Given the description of an element on the screen output the (x, y) to click on. 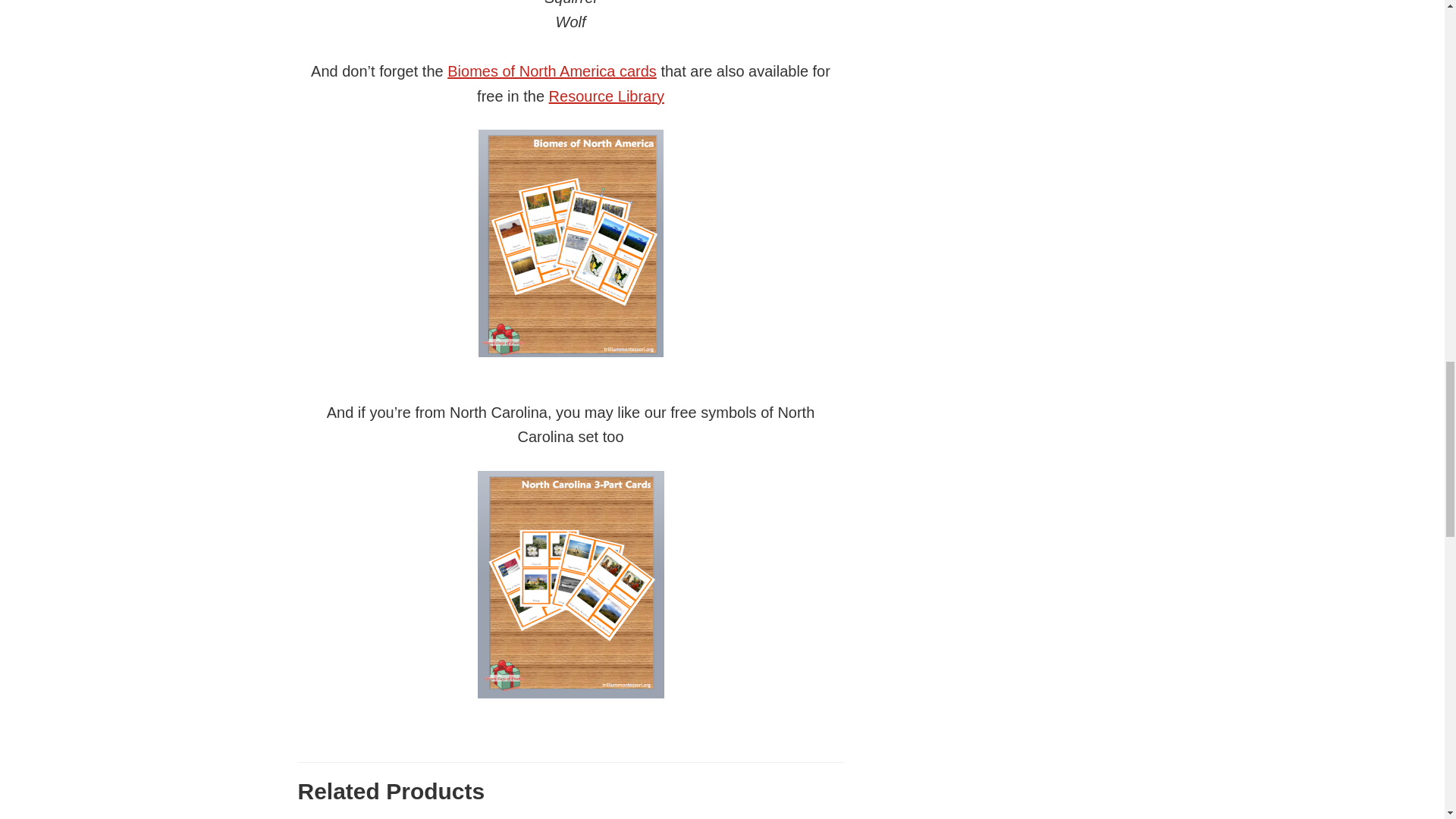
Members (570, 584)
Members (570, 243)
